Given the description of an element on the screen output the (x, y) to click on. 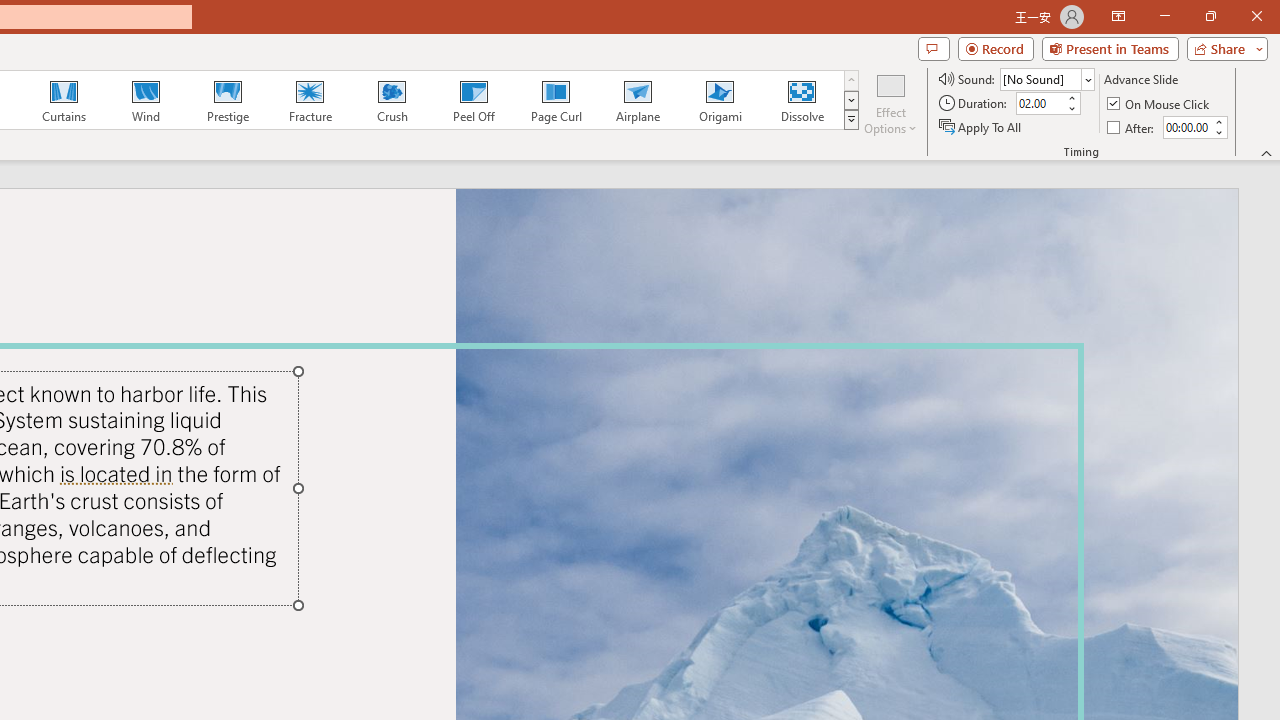
On Mouse Click (1159, 103)
